Given the description of an element on the screen output the (x, y) to click on. 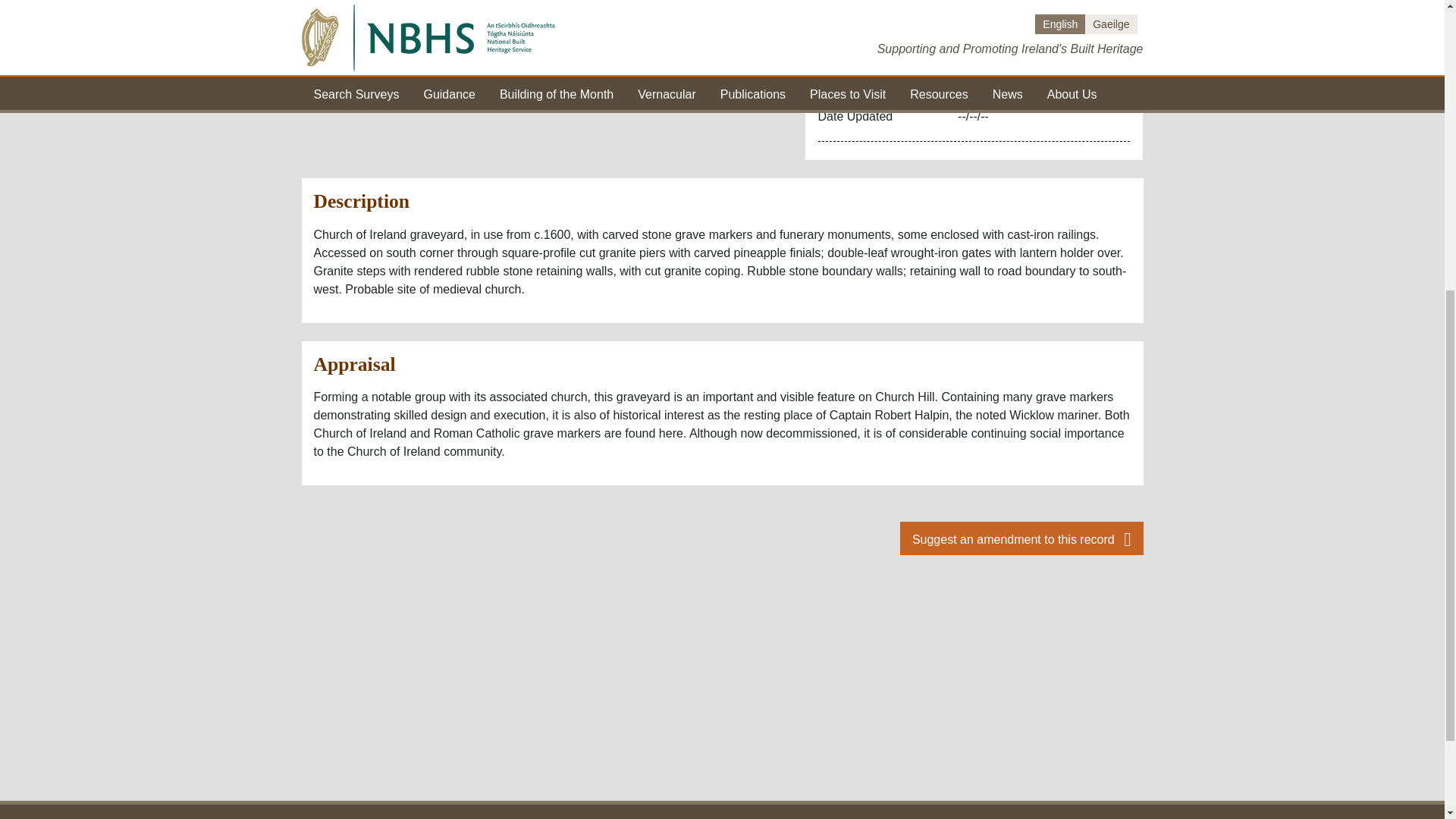
Suggest an amendment to this record (1020, 538)
View on map (708, 3)
